Given the description of an element on the screen output the (x, y) to click on. 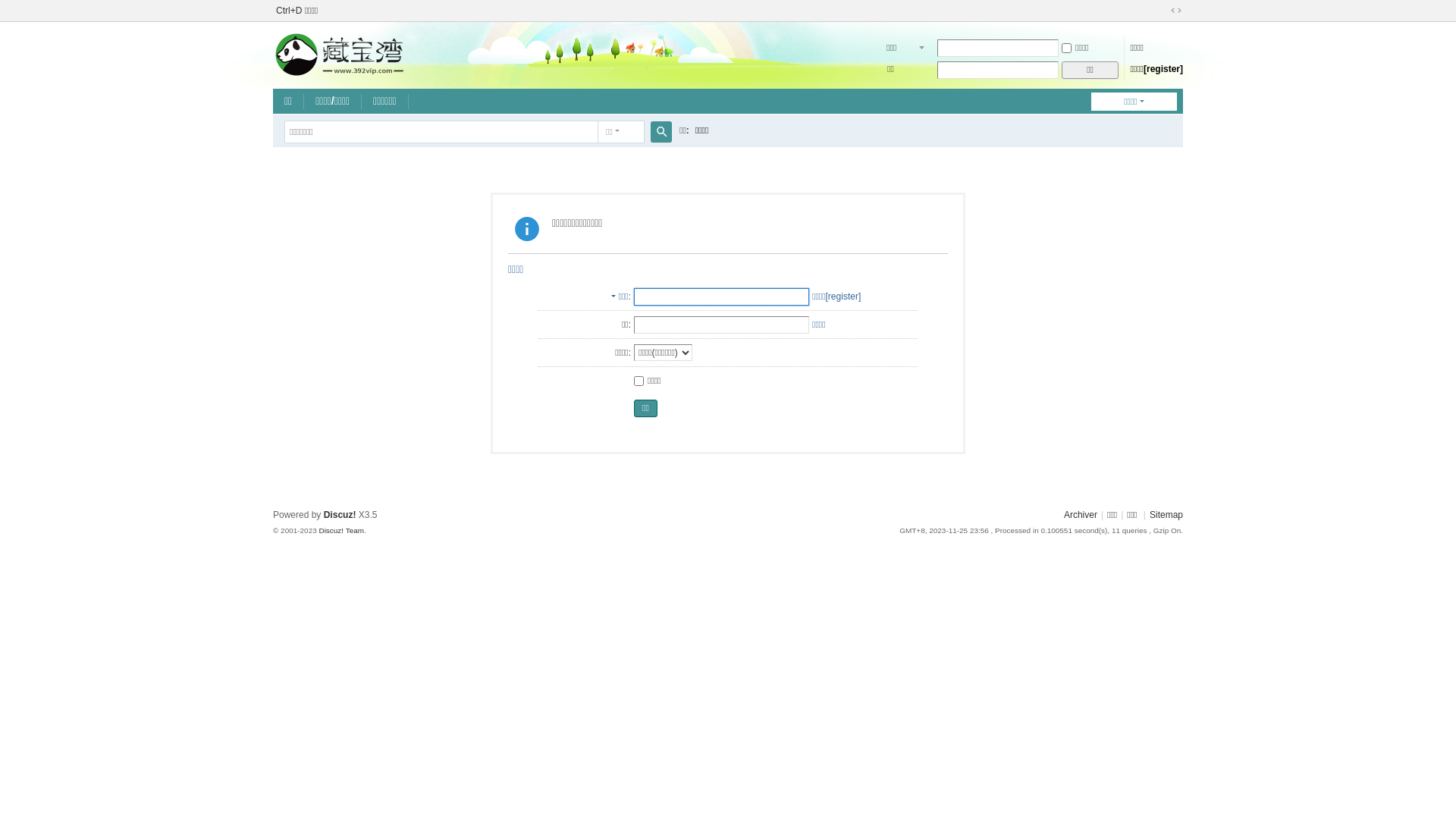
Discuz! Team Element type: text (341, 530)
Archiver Element type: text (1080, 514)
true Element type: text (660, 131)
Discuz! Element type: text (339, 514)
Sitemap Element type: text (1166, 514)
